Given the description of an element on the screen output the (x, y) to click on. 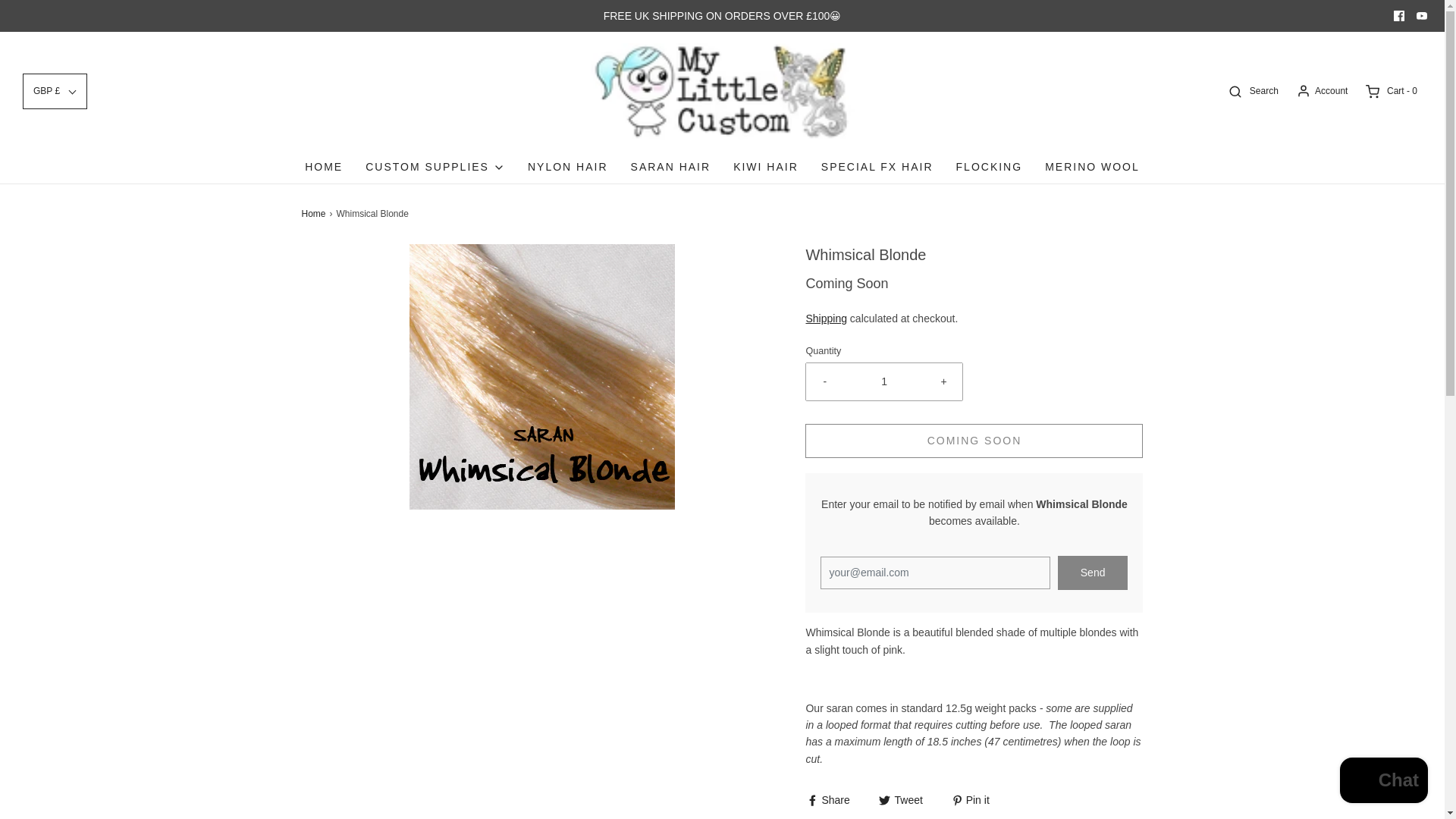
Account (1321, 91)
YouTube icon (1421, 15)
Back to the frontpage (315, 214)
FLOCKING (989, 166)
COMING SOON (973, 440)
Search (1251, 91)
Shopify online store chat (1383, 781)
SPECIAL FX HAIR (877, 166)
SARAN HAIR (670, 166)
Cart - 0 (1390, 91)
